Given the description of an element on the screen output the (x, y) to click on. 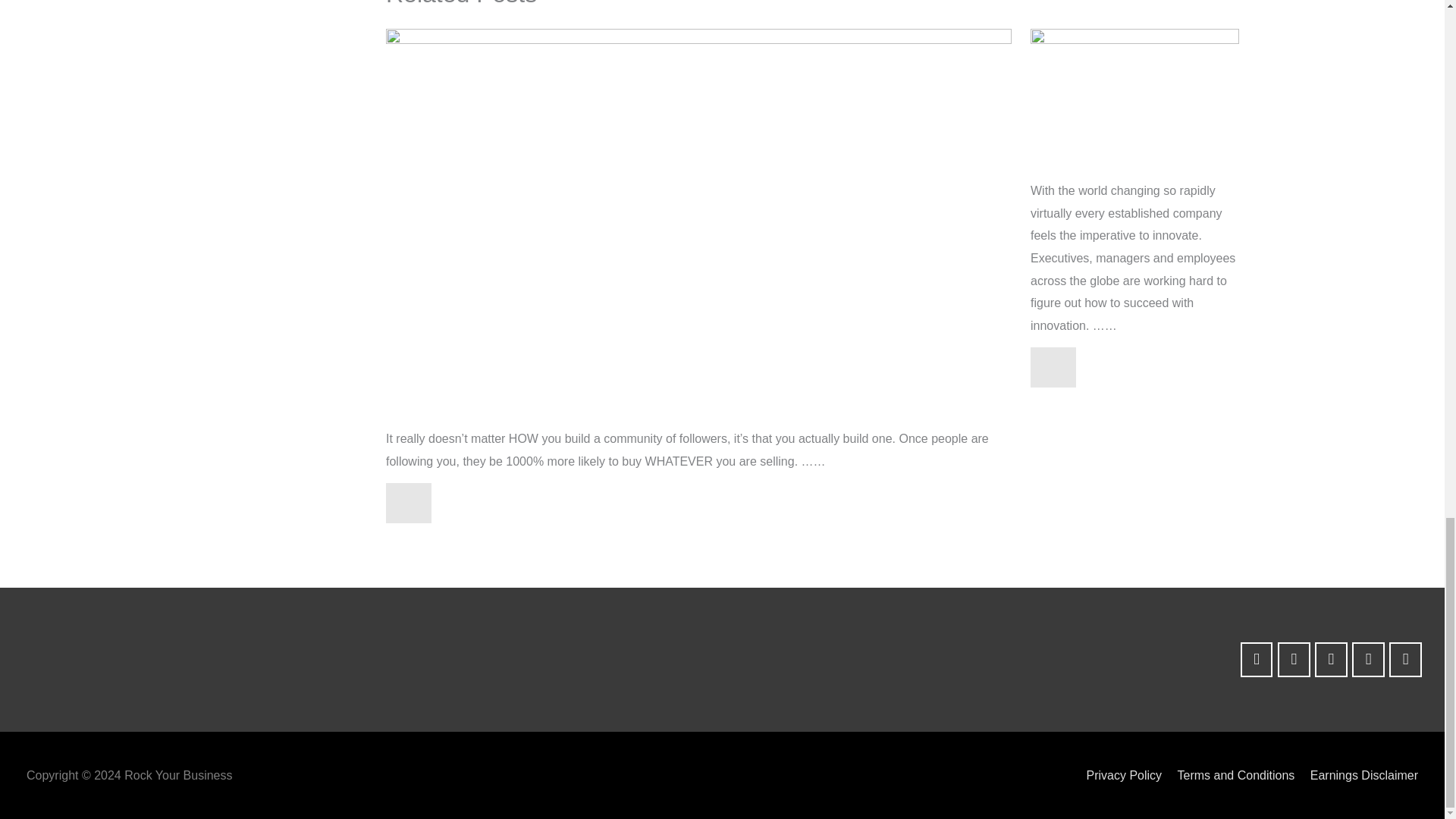
Rock Your Business on Facebook (1256, 660)
Rock Your Business on X Twitter (1405, 660)
Rock Your Business on Linkedin (1331, 660)
Terms and Conditions (1230, 775)
Earnings Disclaimer (1358, 775)
Privacy Policy (1117, 775)
Rock Your Business on Youtube (1368, 660)
Rock Your Business on Instagram (1294, 660)
